Given the description of an element on the screen output the (x, y) to click on. 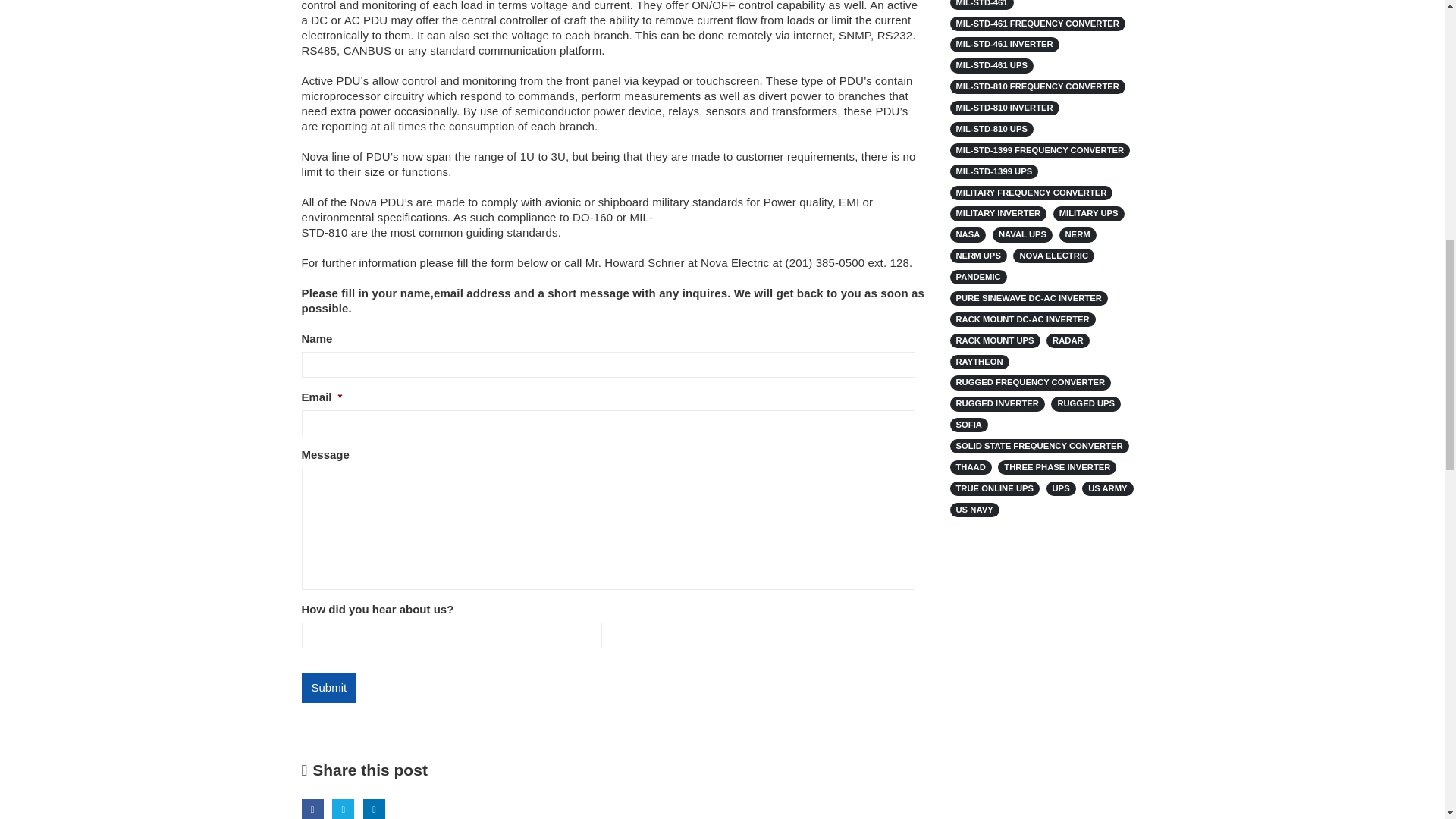
Submit (328, 687)
